Given the description of an element on the screen output the (x, y) to click on. 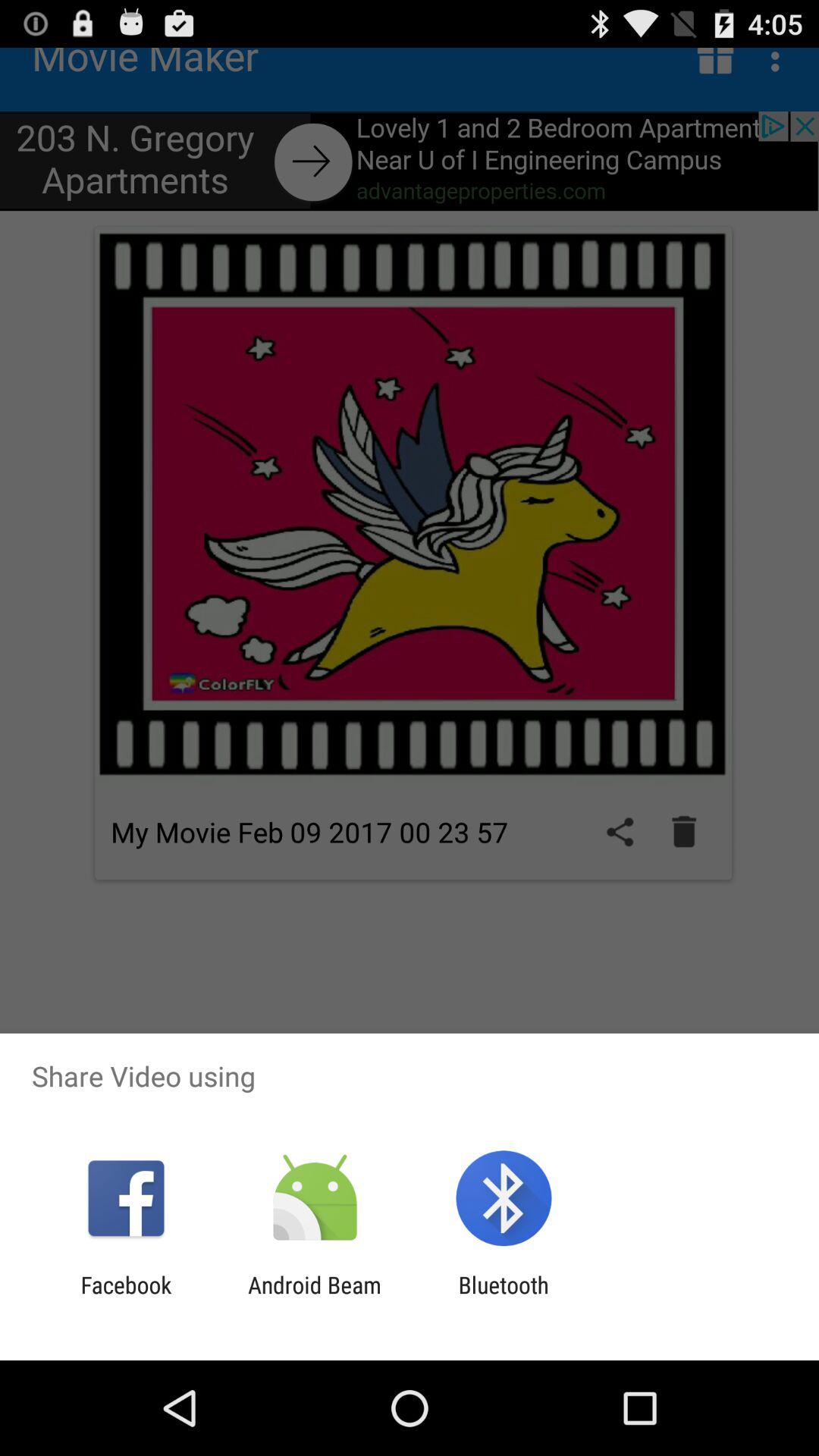
tap bluetooth item (503, 1298)
